Given the description of an element on the screen output the (x, y) to click on. 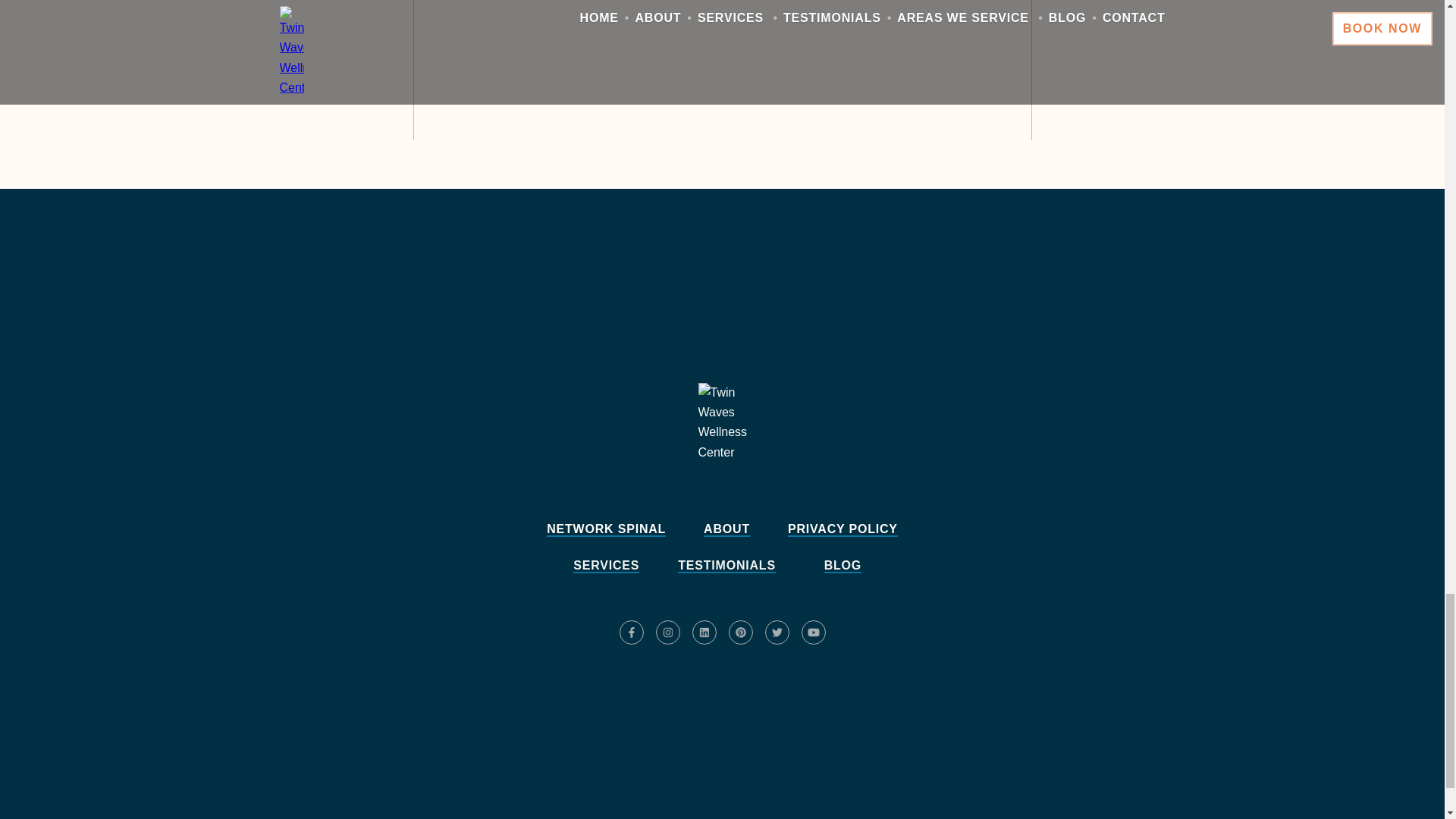
TESTIMONIALS (727, 565)
BLOG (842, 565)
ABOUT (726, 529)
NETWORK SPINAL (606, 529)
PRIVACY POLICY (842, 529)
Schedule an appointment (721, 687)
SERVICES (606, 565)
